Given the description of an element on the screen output the (x, y) to click on. 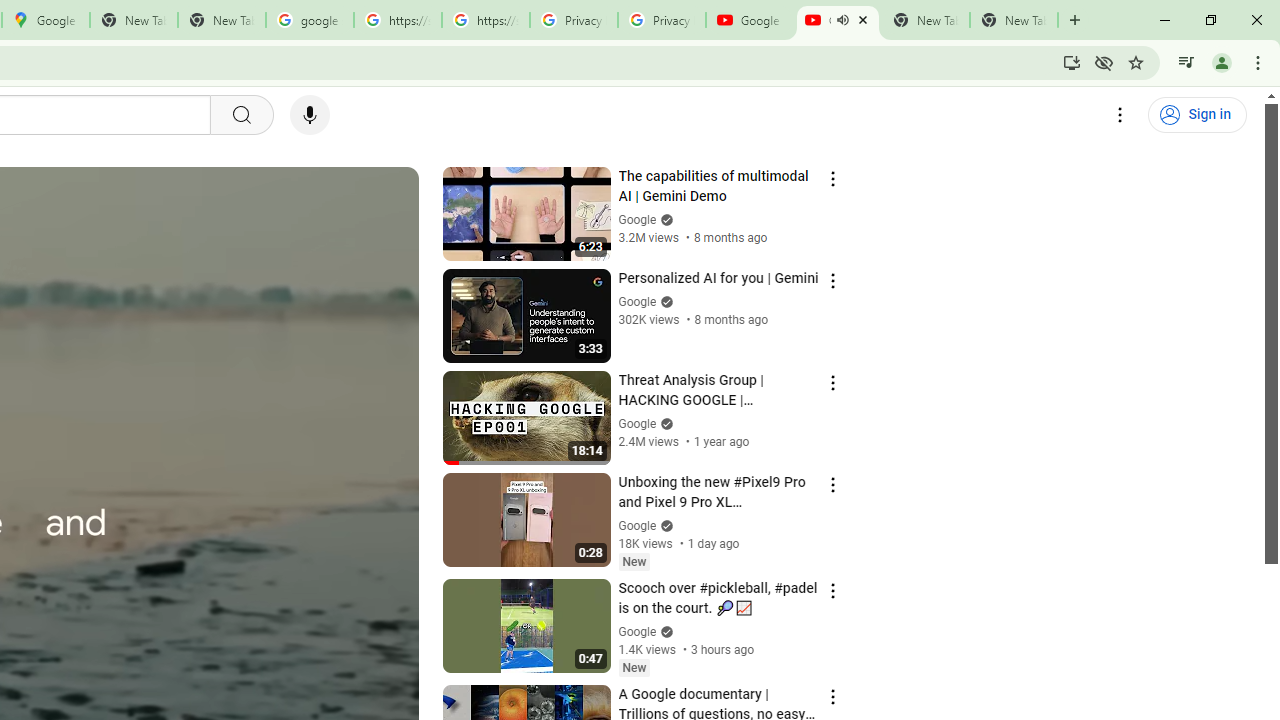
New Tab (1014, 20)
Control your music, videos, and more (1185, 62)
Close (862, 19)
Restore (1210, 20)
New Tab (1075, 20)
Action menu (832, 696)
Search with your voice (309, 115)
Mute tab (842, 20)
Search (240, 115)
Minimize (1165, 20)
